Given the description of an element on the screen output the (x, y) to click on. 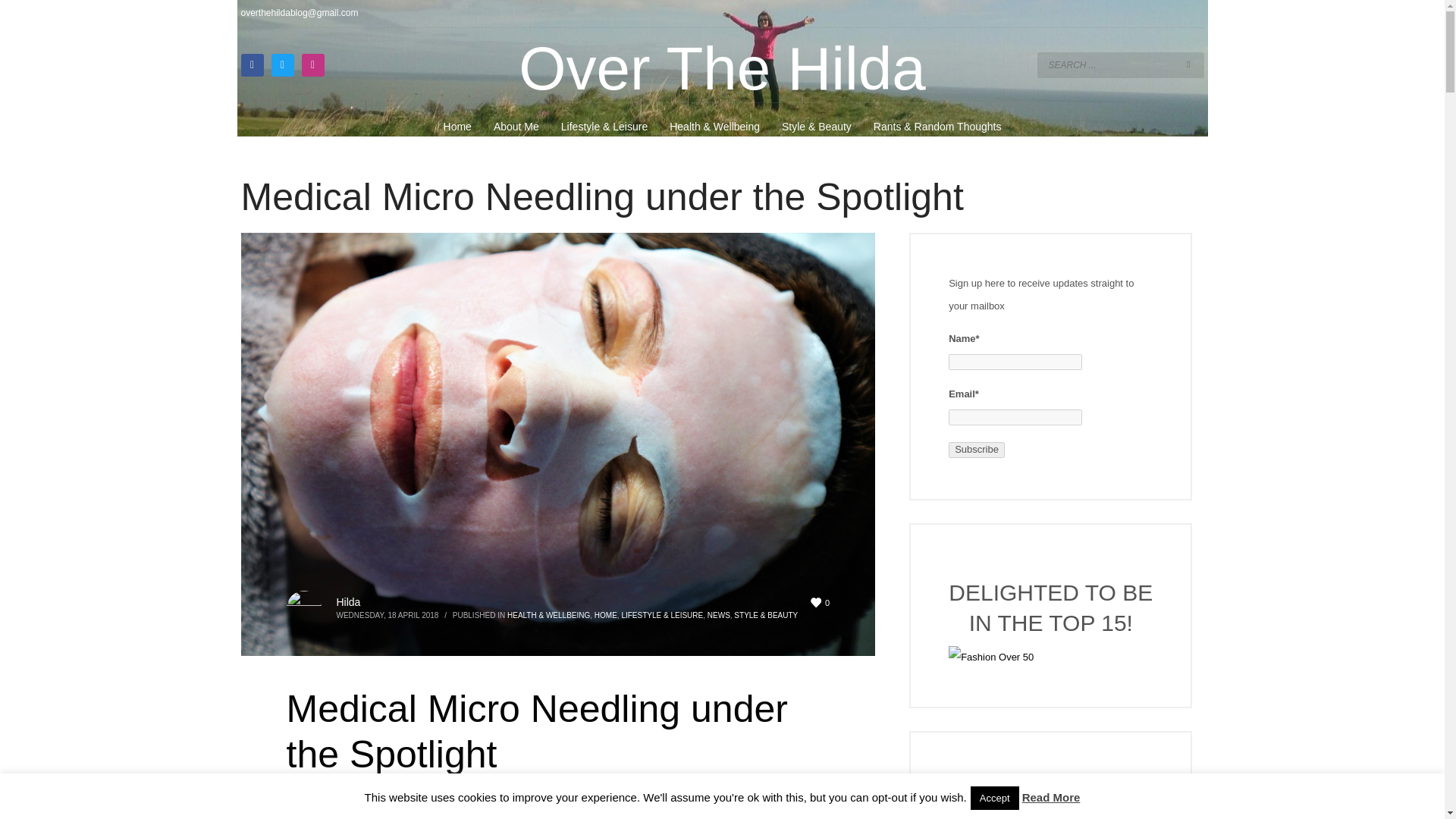
Fashion Over 50 blogs (1051, 657)
Posts by Hilda (348, 602)
Subscribe (976, 449)
Hilda (348, 602)
About Me (516, 126)
HOME (605, 614)
inst (312, 65)
NEWS (718, 614)
fb (252, 65)
Over The Hilda (722, 68)
go (1188, 63)
Home (456, 126)
tw (282, 65)
